Given the description of an element on the screen output the (x, y) to click on. 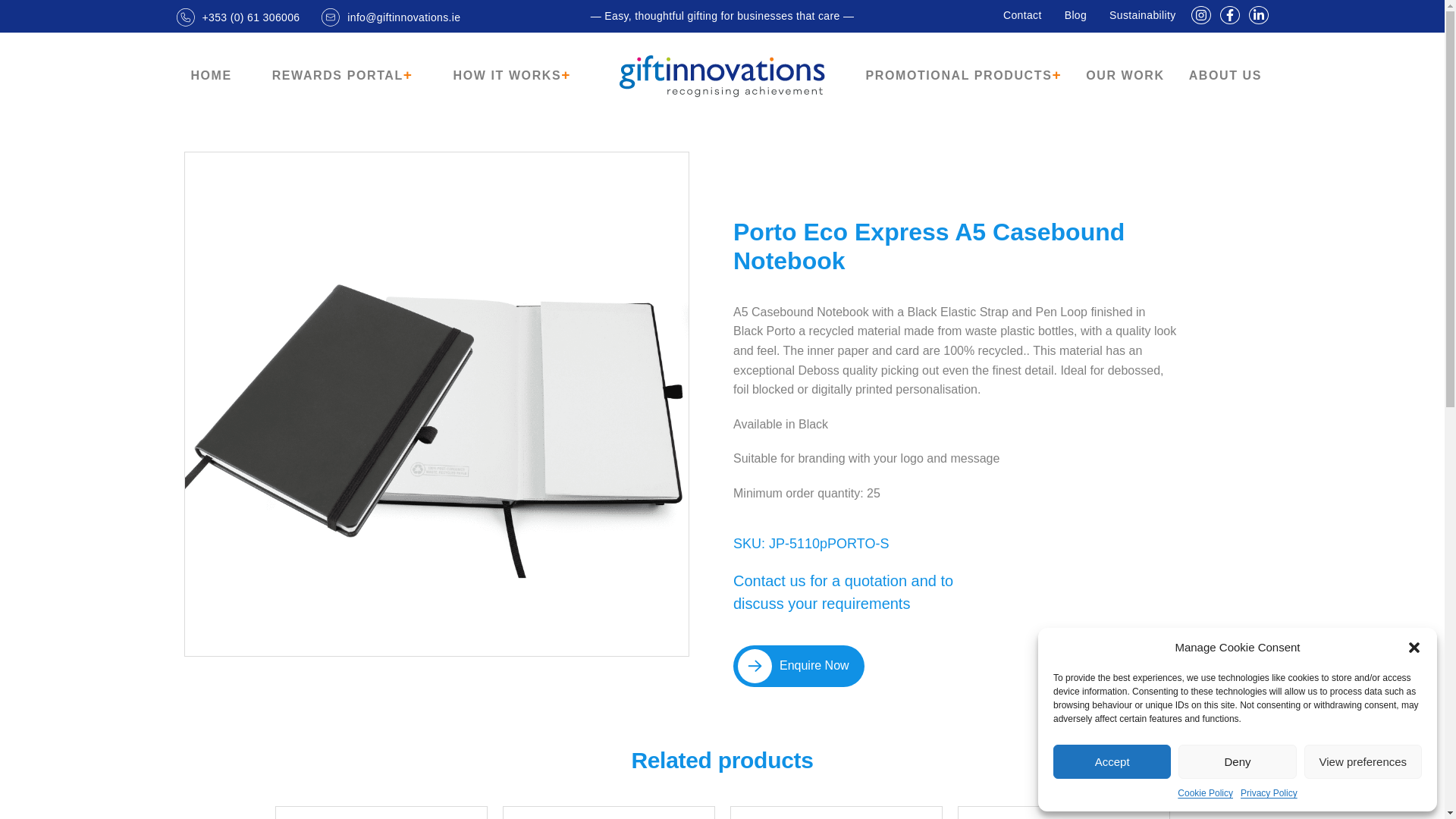
Contact (1022, 15)
Accept (1111, 761)
Sustainability (1141, 15)
Privacy Policy (1268, 793)
Blog (1075, 15)
Phone (237, 16)
View preferences (1363, 761)
Cookie Policy (1205, 793)
Email (390, 16)
Deny (1236, 761)
